Given the description of an element on the screen output the (x, y) to click on. 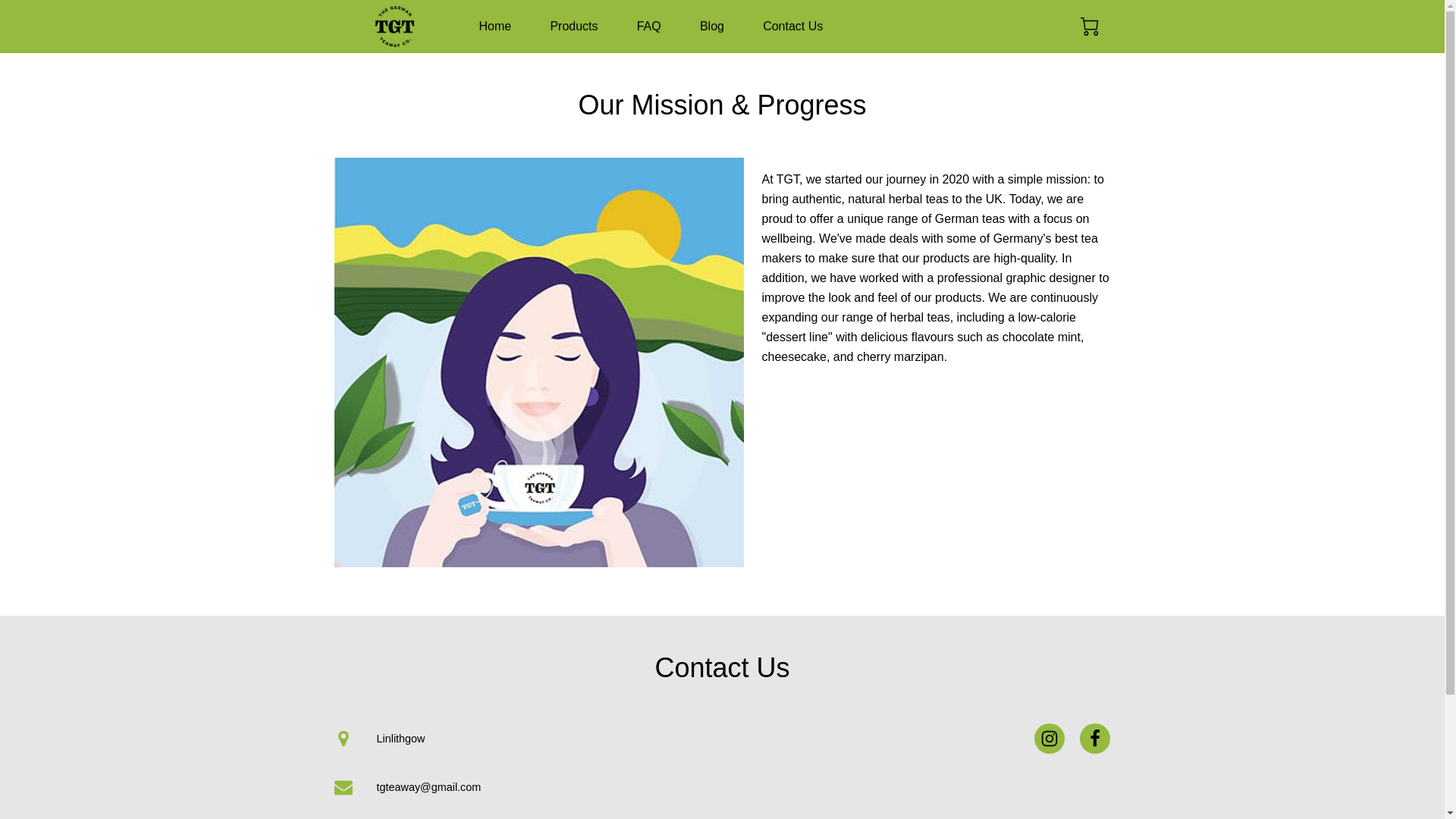
Blog (711, 26)
0 (1088, 26)
Home (495, 26)
Products (573, 26)
FAQ (649, 26)
Contact Us (792, 26)
Linlithgow (376, 738)
